Given the description of an element on the screen output the (x, y) to click on. 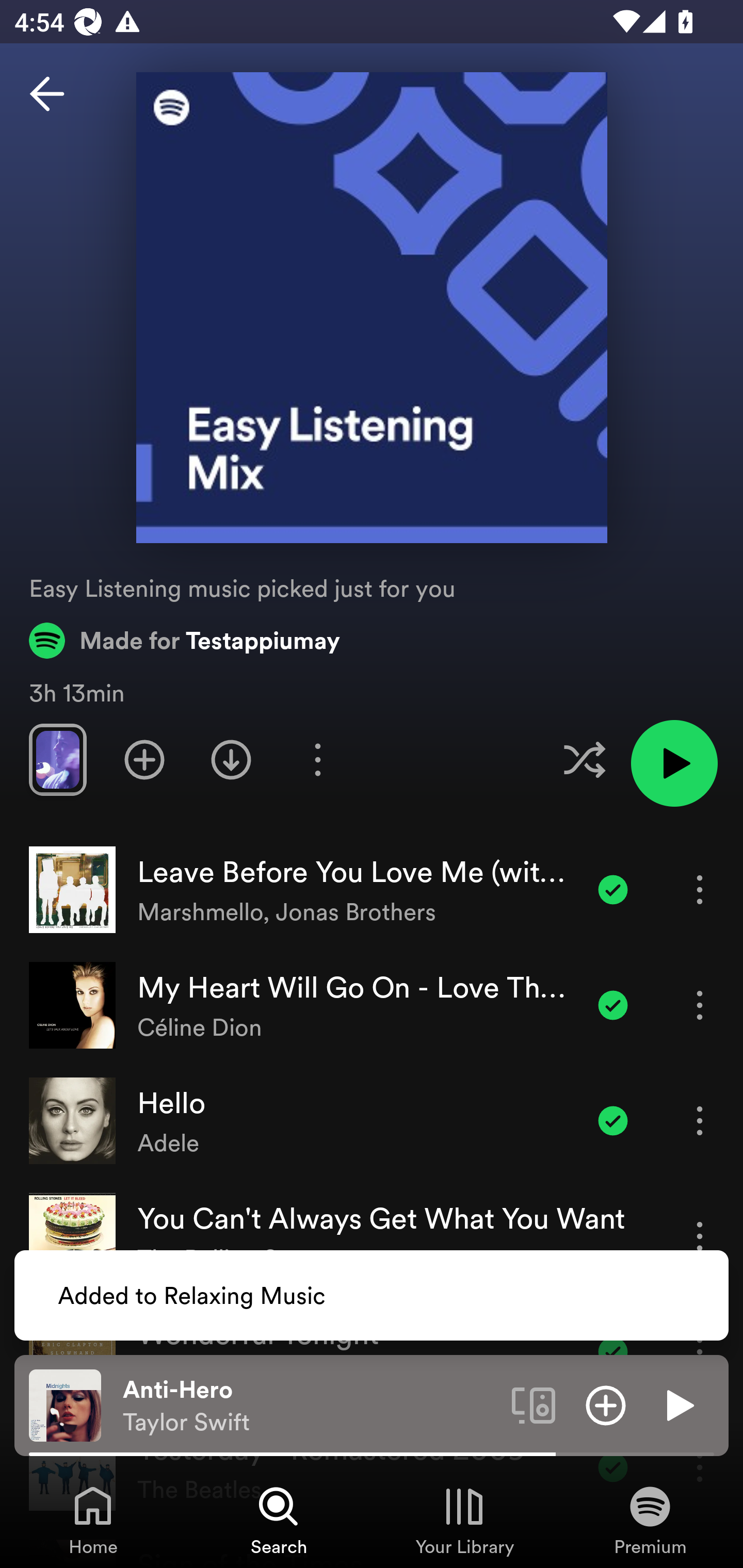
Back (46, 93)
Made for Testappiumay (184, 640)
Swipe through previews of tracks in this playlist. (57, 759)
Add playlist to Your Library (144, 759)
Download (230, 759)
More options for playlist Easy Listening Mix (317, 759)
Enable shuffle for this playlist (583, 759)
Play playlist (674, 763)
Item added (612, 889)
Item added (612, 1004)
Hello Adele Item added More options for song Hello (371, 1121)
Item added (612, 1120)
More options for song Hello (699, 1120)
Anti-Hero Taylor Swift (309, 1405)
The cover art of the currently playing track (64, 1404)
Connect to a device. Opens the devices menu (533, 1404)
Add item (605, 1404)
Play (677, 1404)
Home, Tab 1 of 4 Home Home (92, 1519)
Search, Tab 2 of 4 Search Search (278, 1519)
Your Library, Tab 3 of 4 Your Library Your Library (464, 1519)
Premium, Tab 4 of 4 Premium Premium (650, 1519)
